Given the description of an element on the screen output the (x, y) to click on. 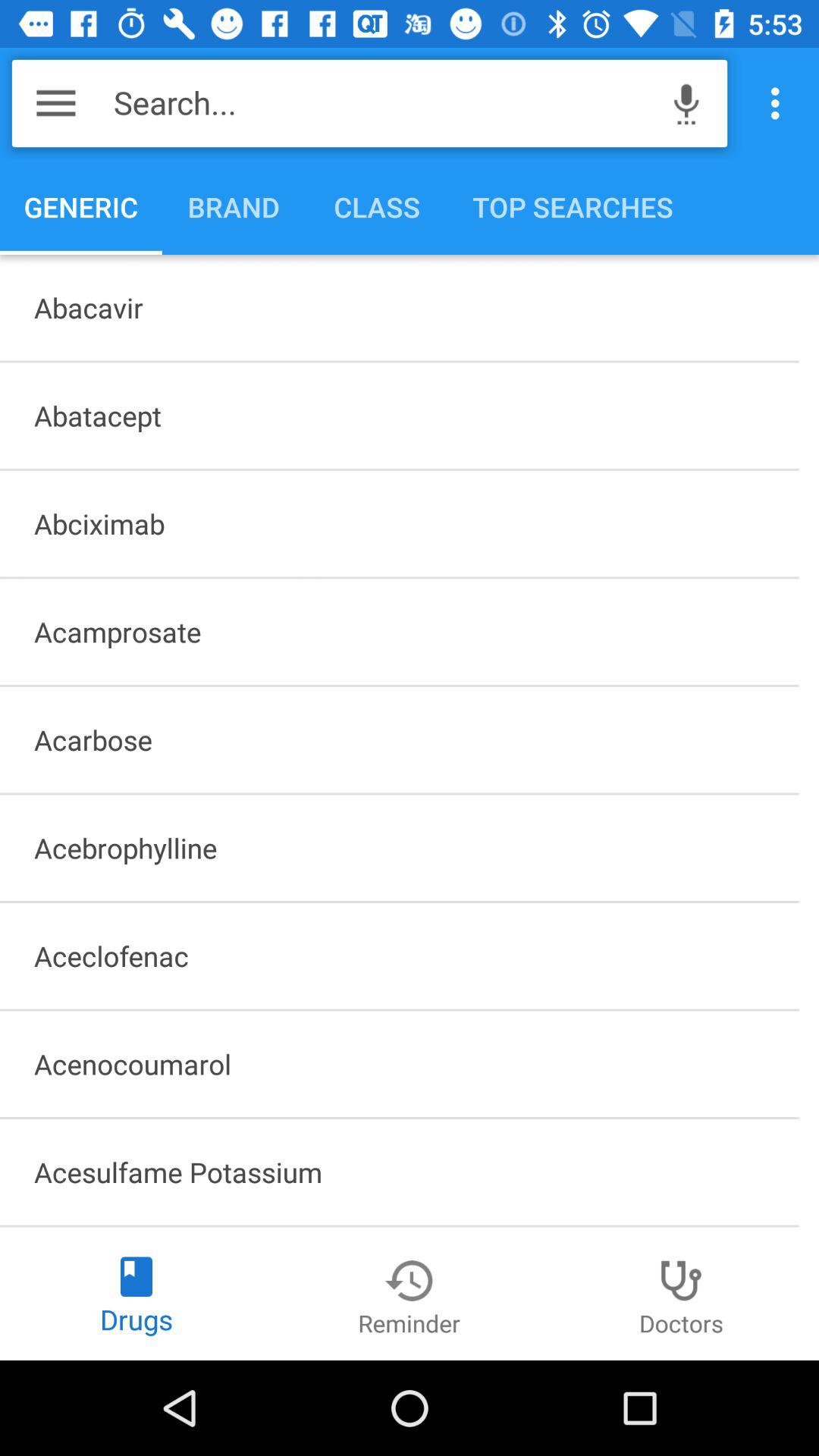
turn off acesulfame potassium icon (399, 1171)
